Given the description of an element on the screen output the (x, y) to click on. 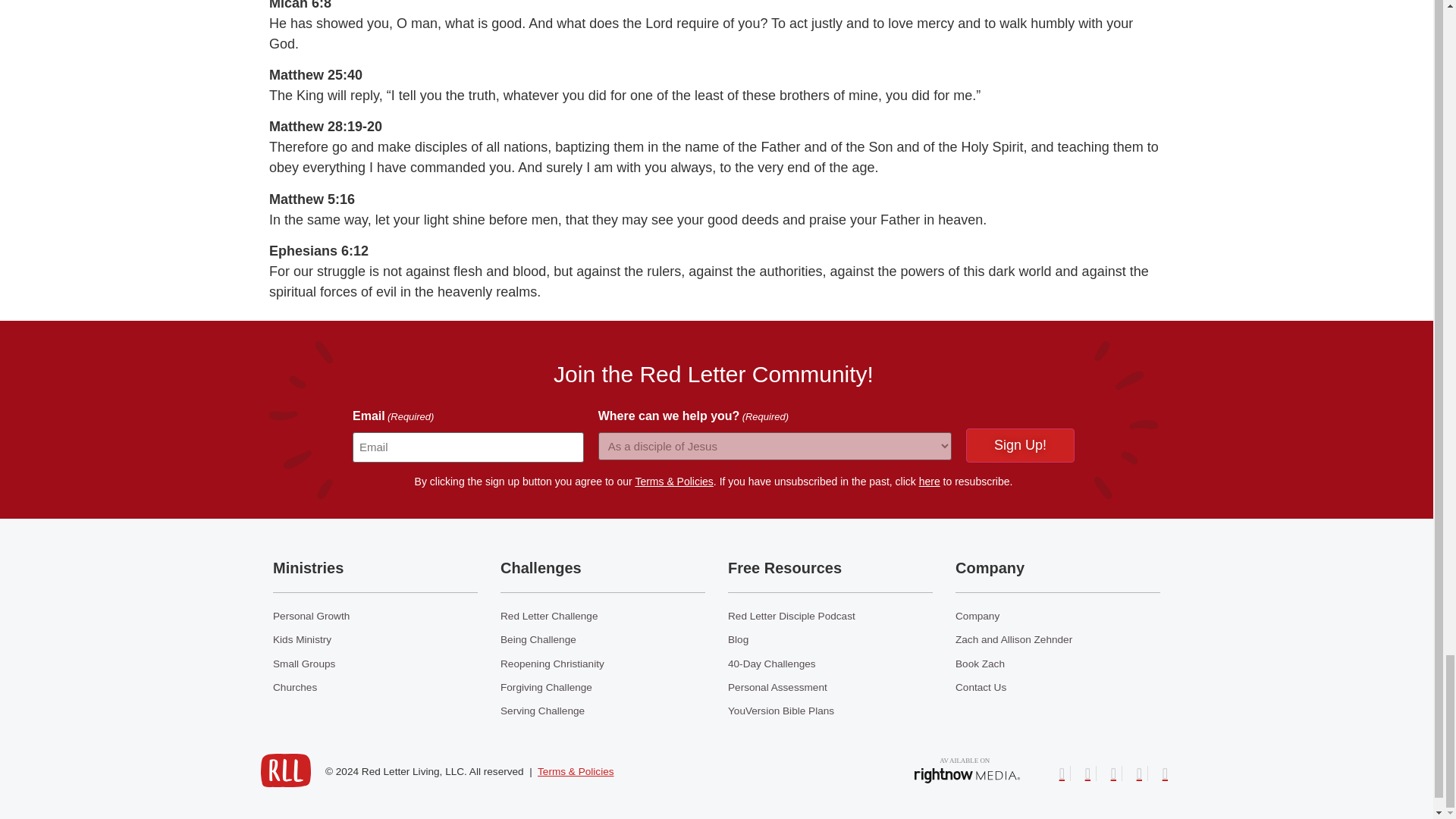
AVAILABLE ON (967, 768)
Sign Up! (1020, 445)
